Given the description of an element on the screen output the (x, y) to click on. 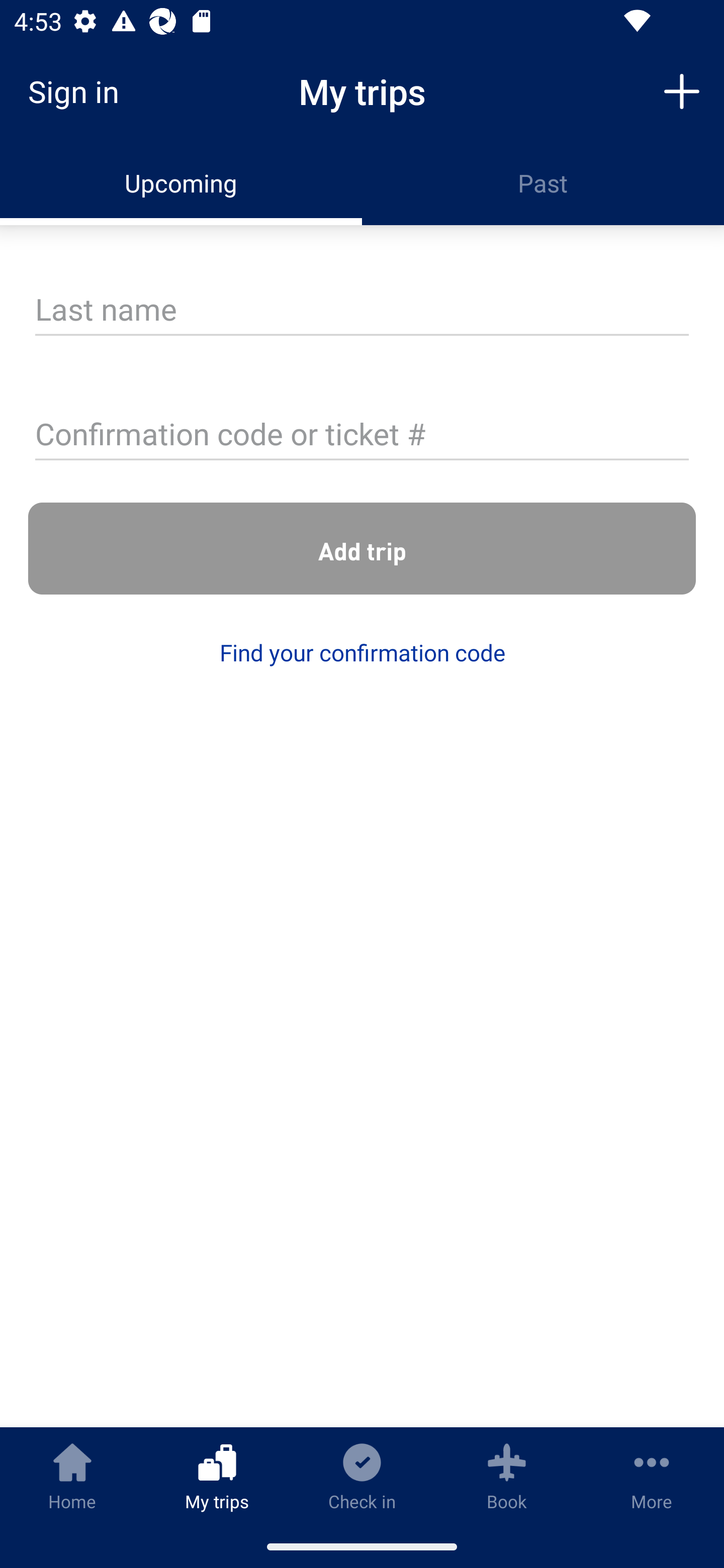
Sign in (80, 91)
Add trip (681, 90)
Past (543, 183)
Last name (361, 310)
Confirmation code or ticket # (361, 435)
Add trip (361, 548)
Home (72, 1475)
Check in (361, 1475)
Book (506, 1475)
More (651, 1475)
